Given the description of an element on the screen output the (x, y) to click on. 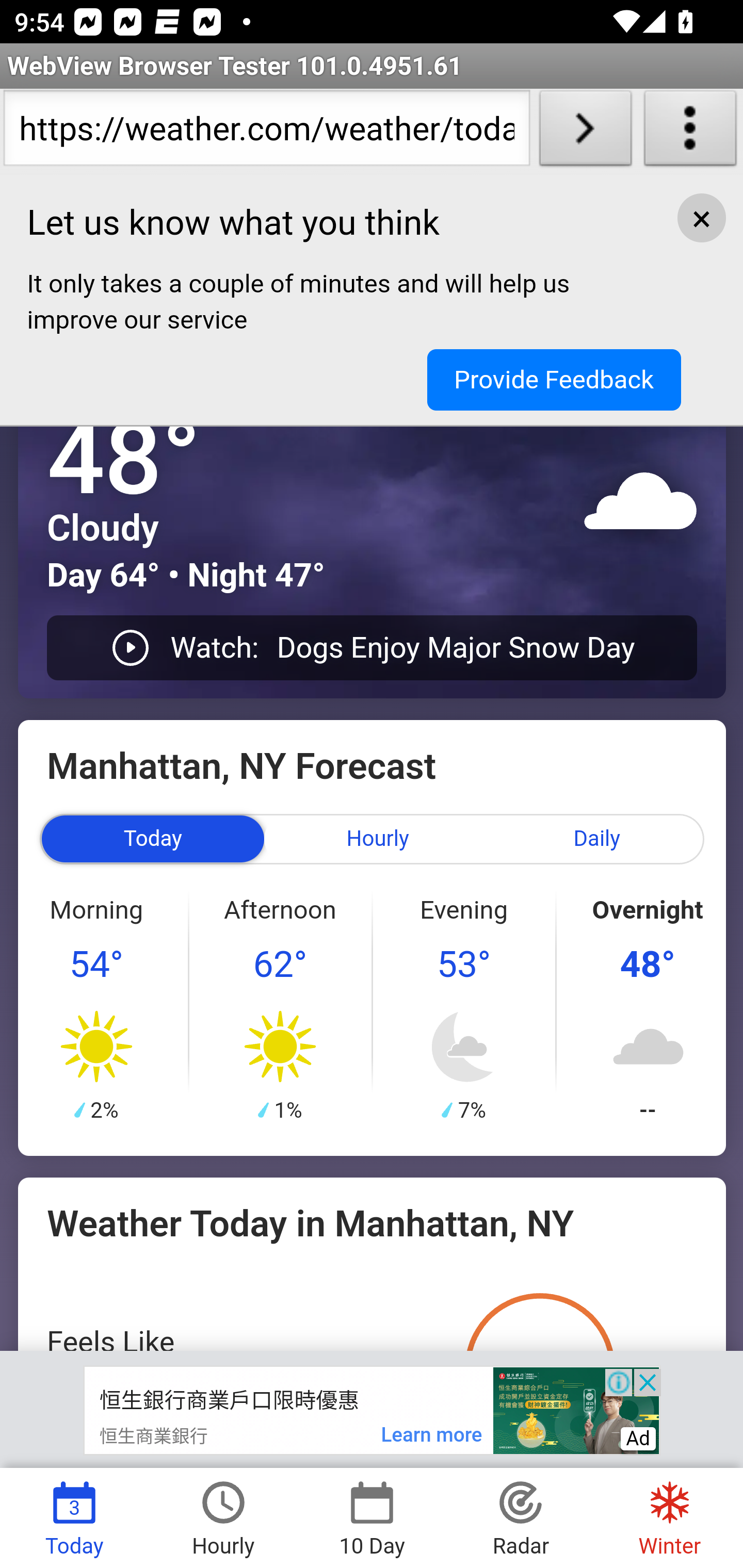
Load URL (585, 132)
About WebView (690, 132)
close (701, 218)
Provide Feedback (554, 379)
Today (152, 837)
Hourly (377, 837)
Daily (597, 837)
Overnight 48° Cloudy -- Overnight 48° Cloudy -- (646, 1009)
Daily Today Daily Today (74, 1517)
Hourly Hourly Hourly Hourly (222, 1517)
Ten Day 10 Day Ten Day 10 Day (372, 1517)
Radar Radar Radar Radar (520, 1517)
Winter Storm Winter Winter Storm Winter (668, 1517)
